Given the description of an element on the screen output the (x, y) to click on. 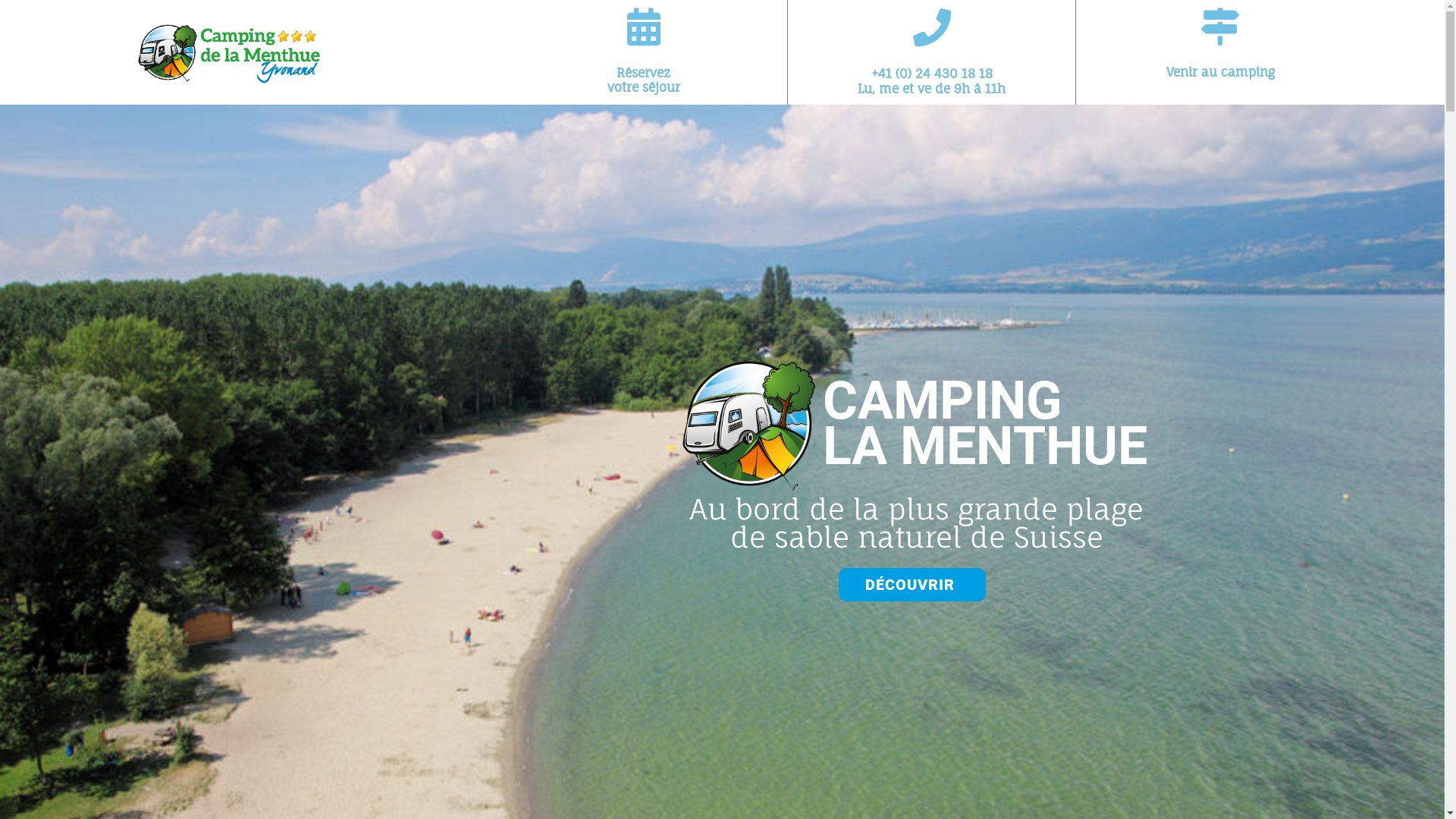
Venir au camping Element type: text (1220, 71)
